Given the description of an element on the screen output the (x, y) to click on. 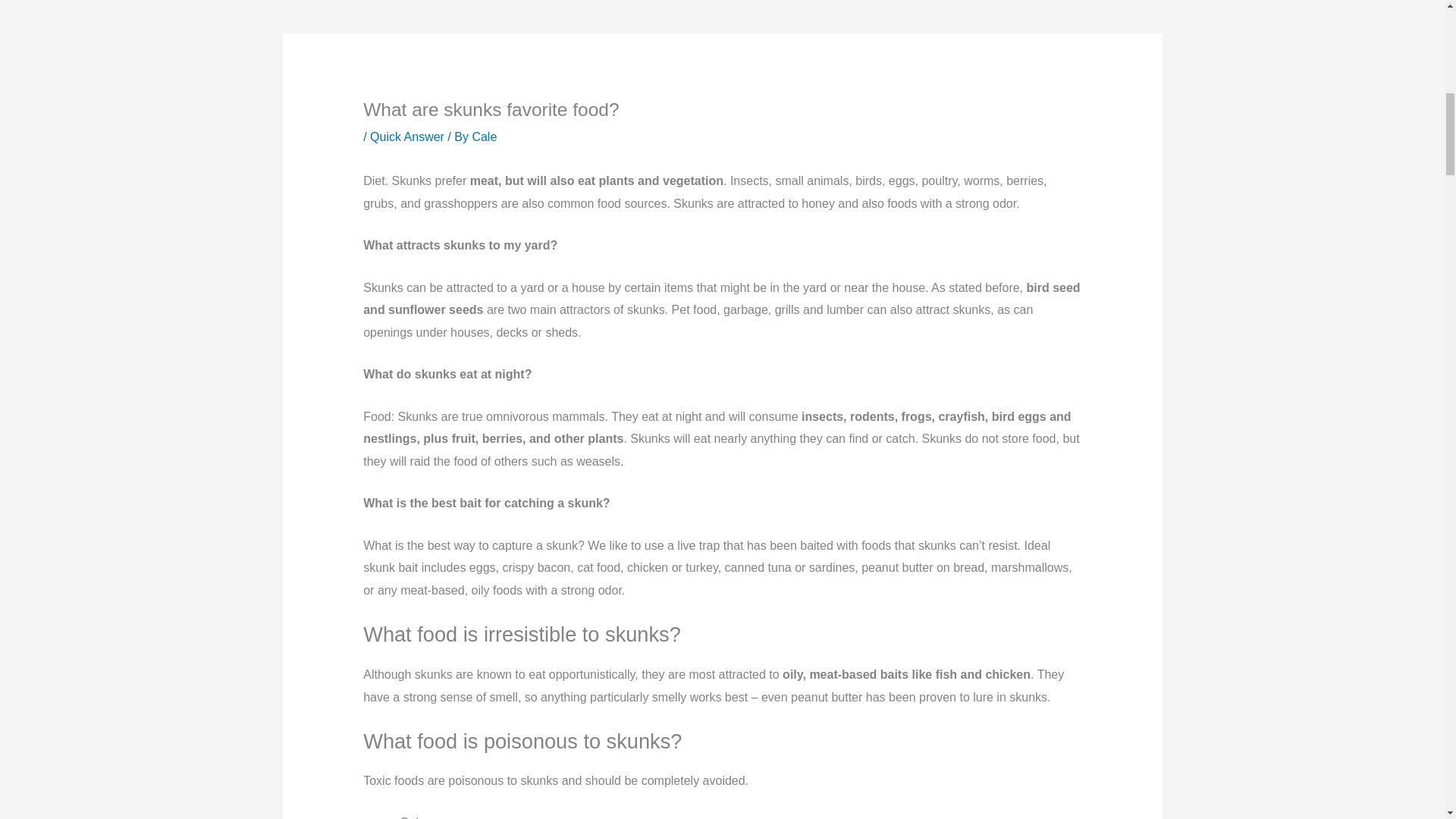
View all posts by Cale (483, 136)
Quick Answer (406, 136)
Cale (483, 136)
